Given the description of an element on the screen output the (x, y) to click on. 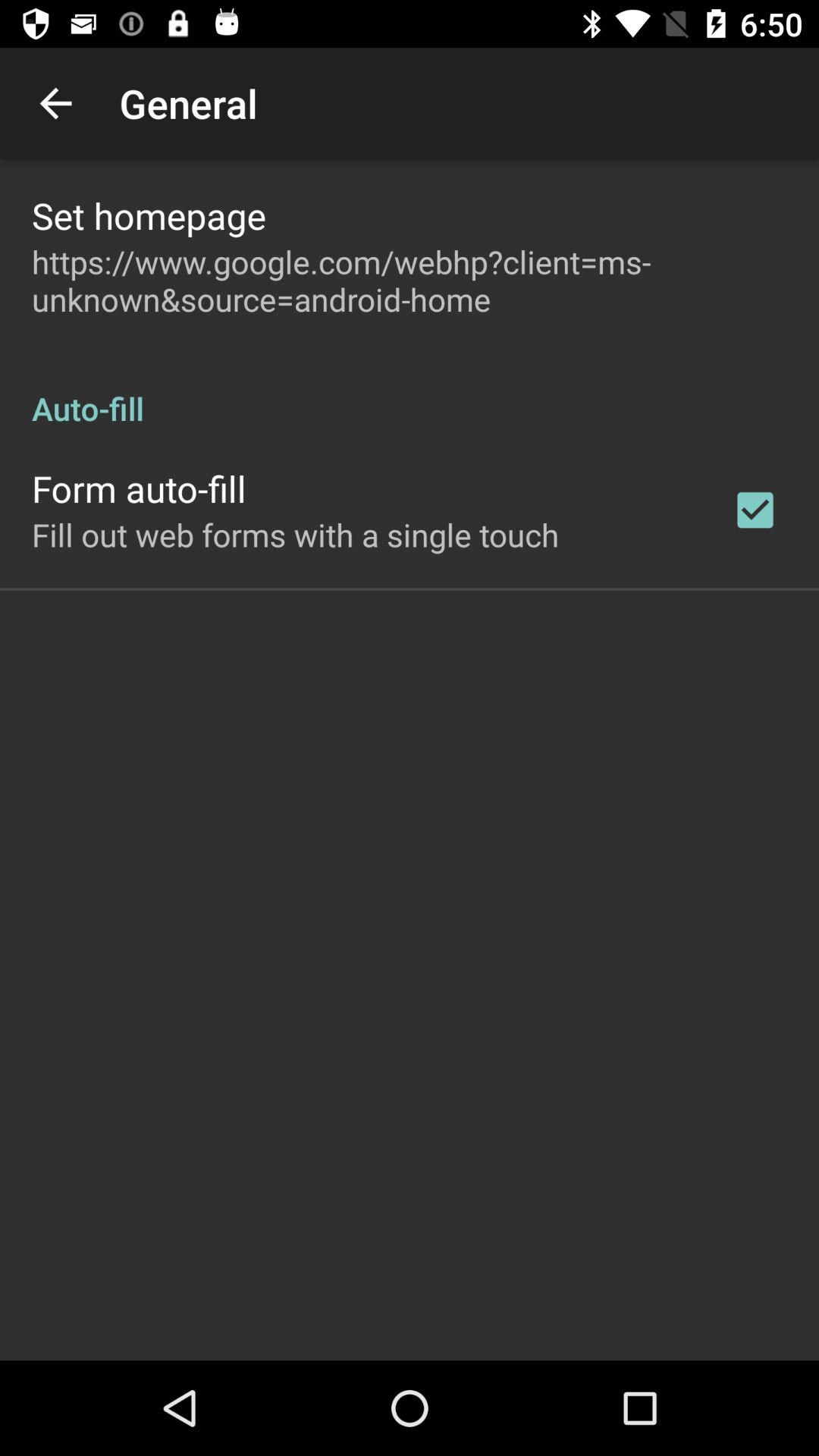
scroll to fill out web (295, 534)
